Given the description of an element on the screen output the (x, y) to click on. 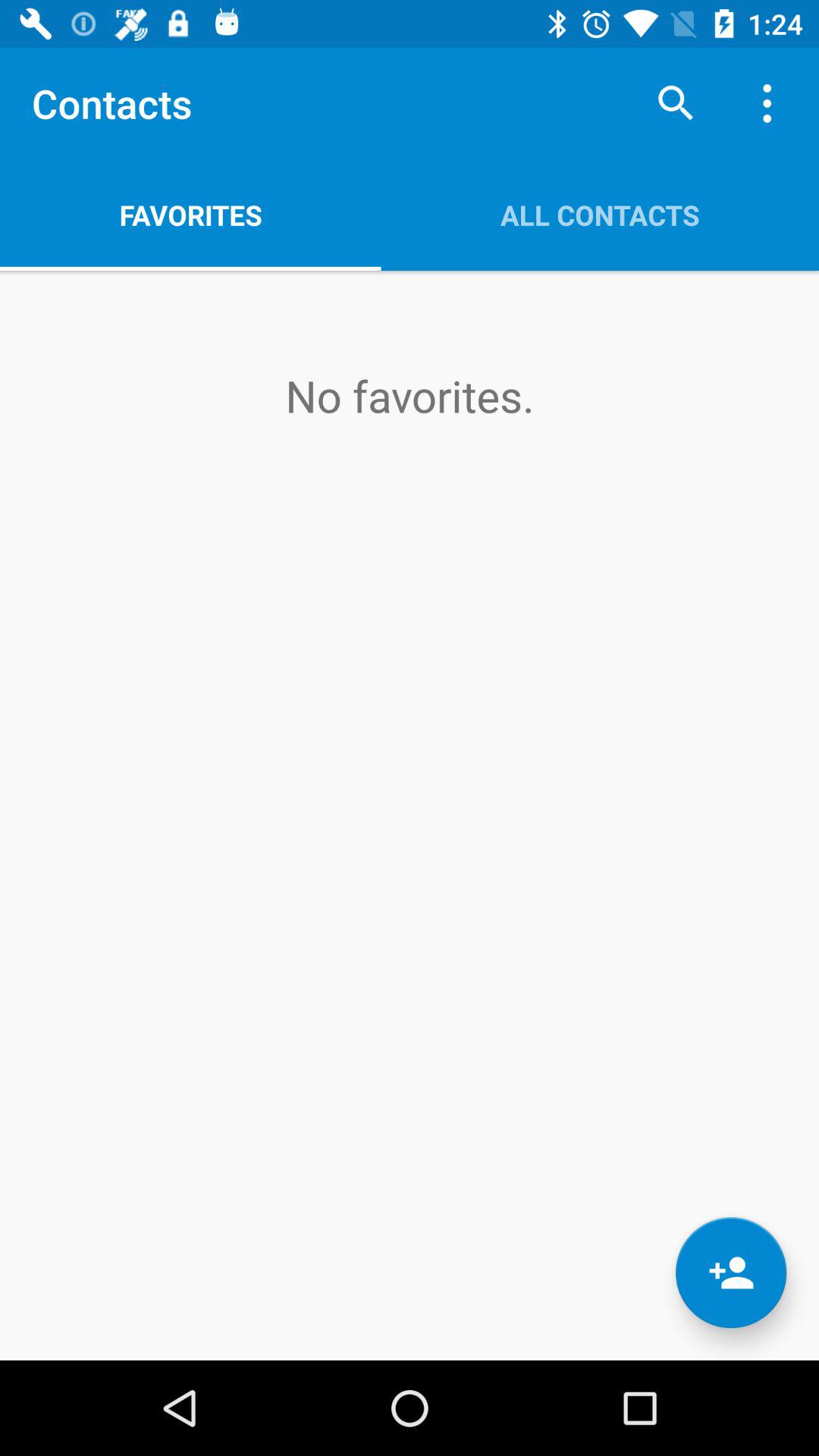
select item below the all contacts (731, 1272)
